Given the description of an element on the screen output the (x, y) to click on. 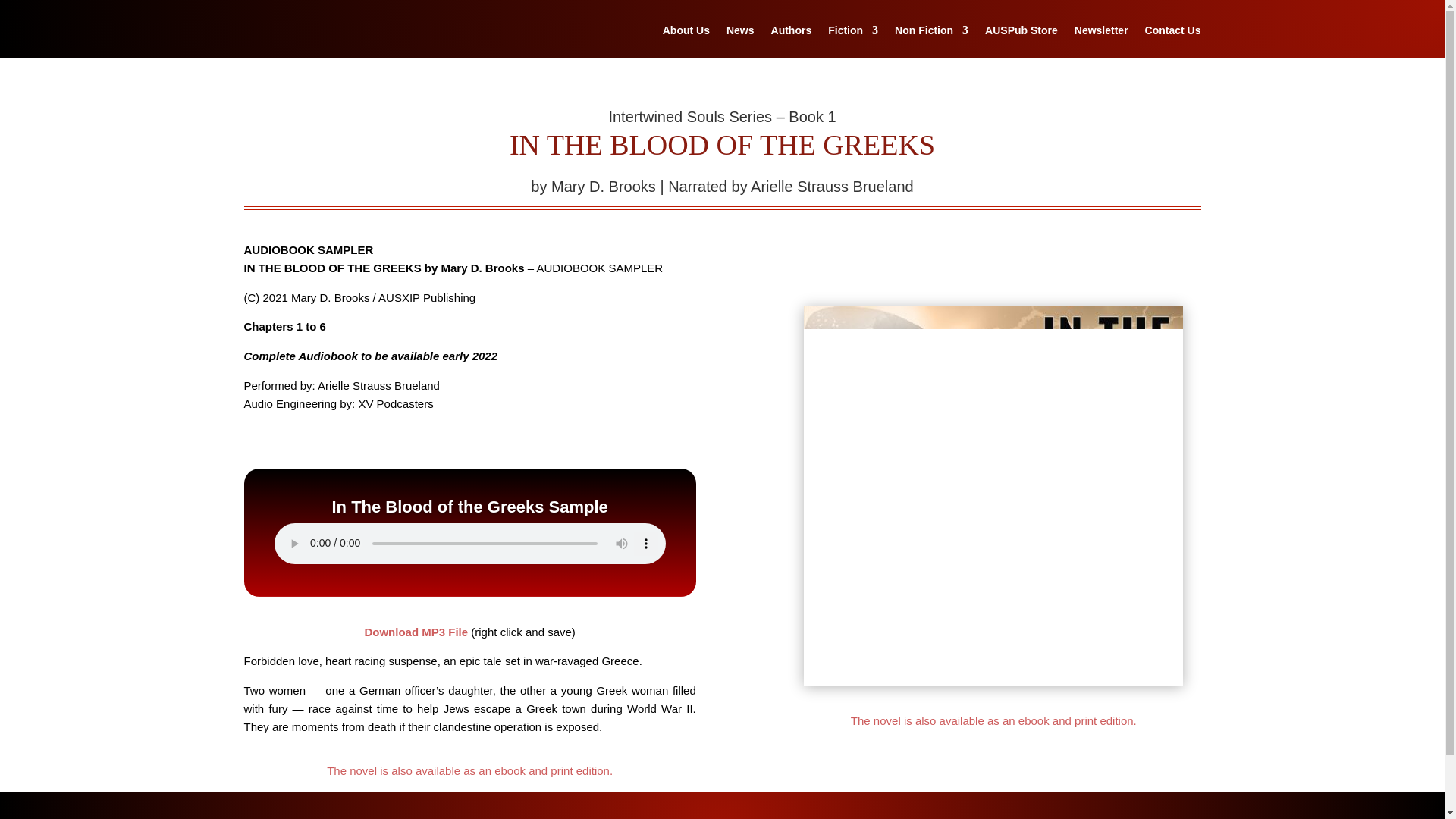
About Us (686, 41)
Authors (791, 41)
Fiction (852, 41)
Contact Us (1172, 41)
The novel is also available as an ebook and print edition. (469, 770)
The novel is also available as an ebook and print edition. (993, 720)
Newsletter (1101, 41)
Download MP3 File (415, 631)
Non Fiction (931, 41)
